Given the description of an element on the screen output the (x, y) to click on. 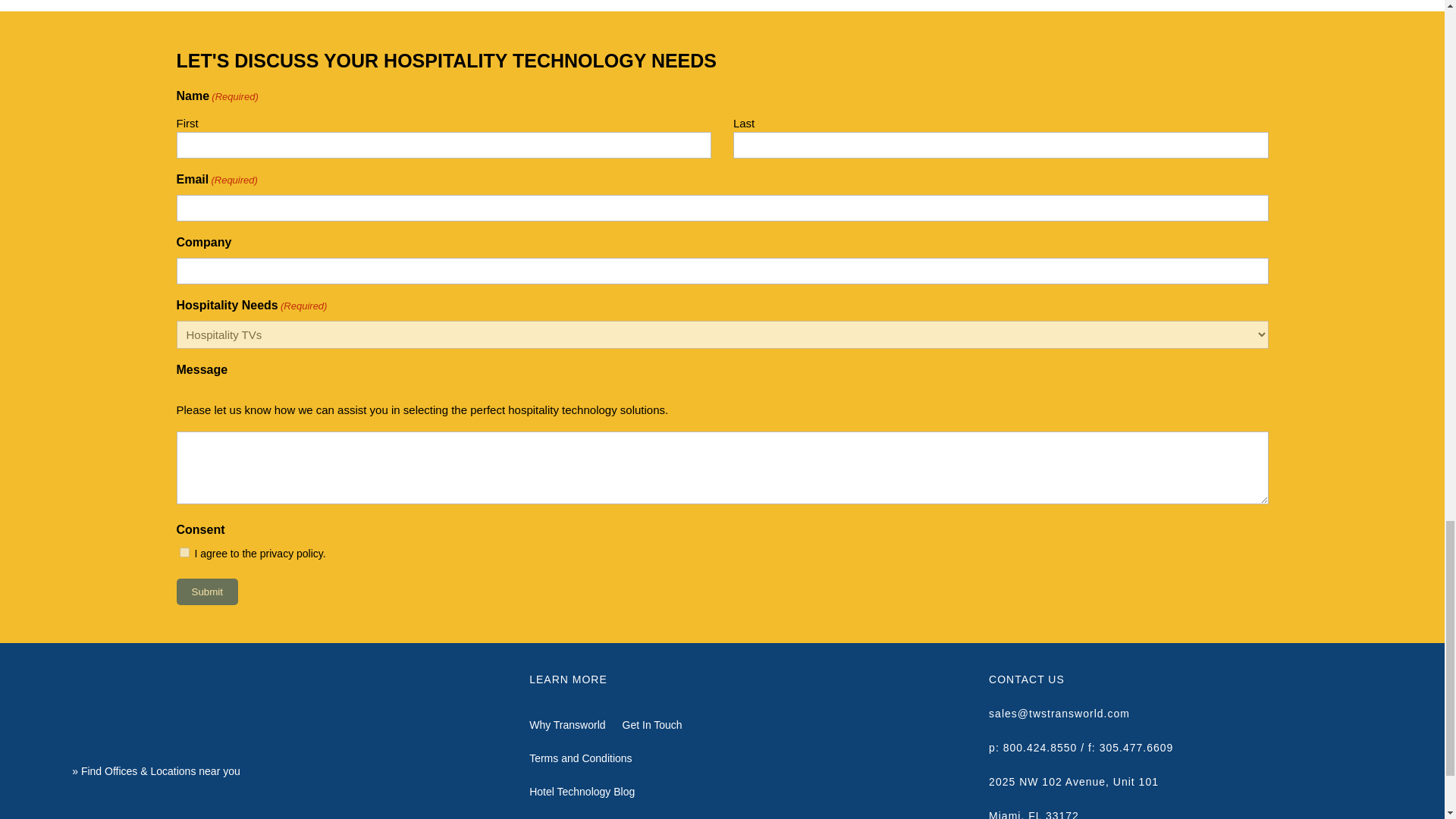
Submit (206, 591)
tws-logo-website (200, 699)
1 (184, 552)
